Given the description of an element on the screen output the (x, y) to click on. 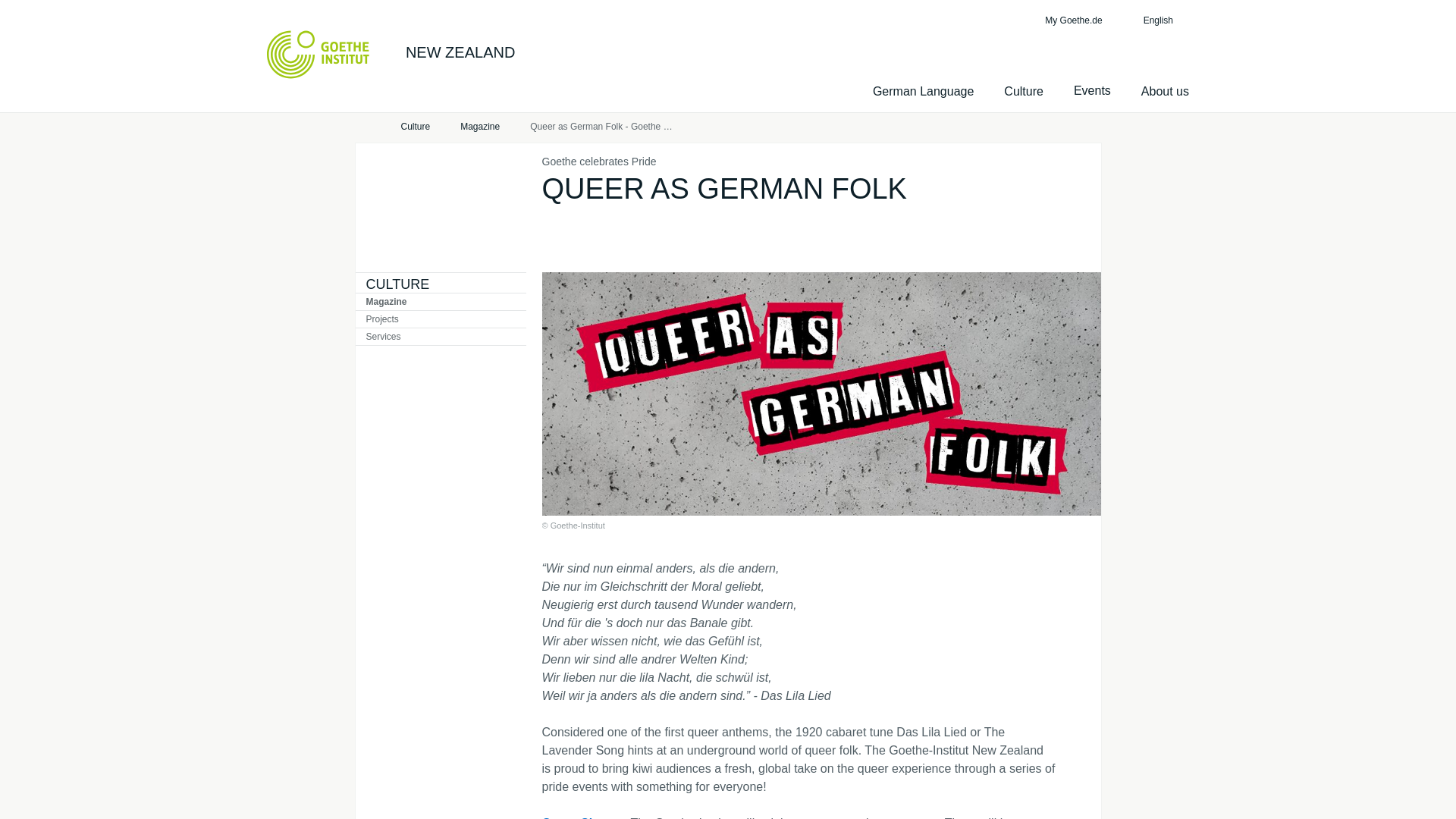
Claim Goethe Institut (317, 54)
Magazine (440, 301)
German Language (923, 91)
English (1165, 20)
Services (440, 336)
CULTURE (397, 283)
Events (1092, 90)
My Goethe.de (1070, 20)
Projects (440, 319)
